Given the description of an element on the screen output the (x, y) to click on. 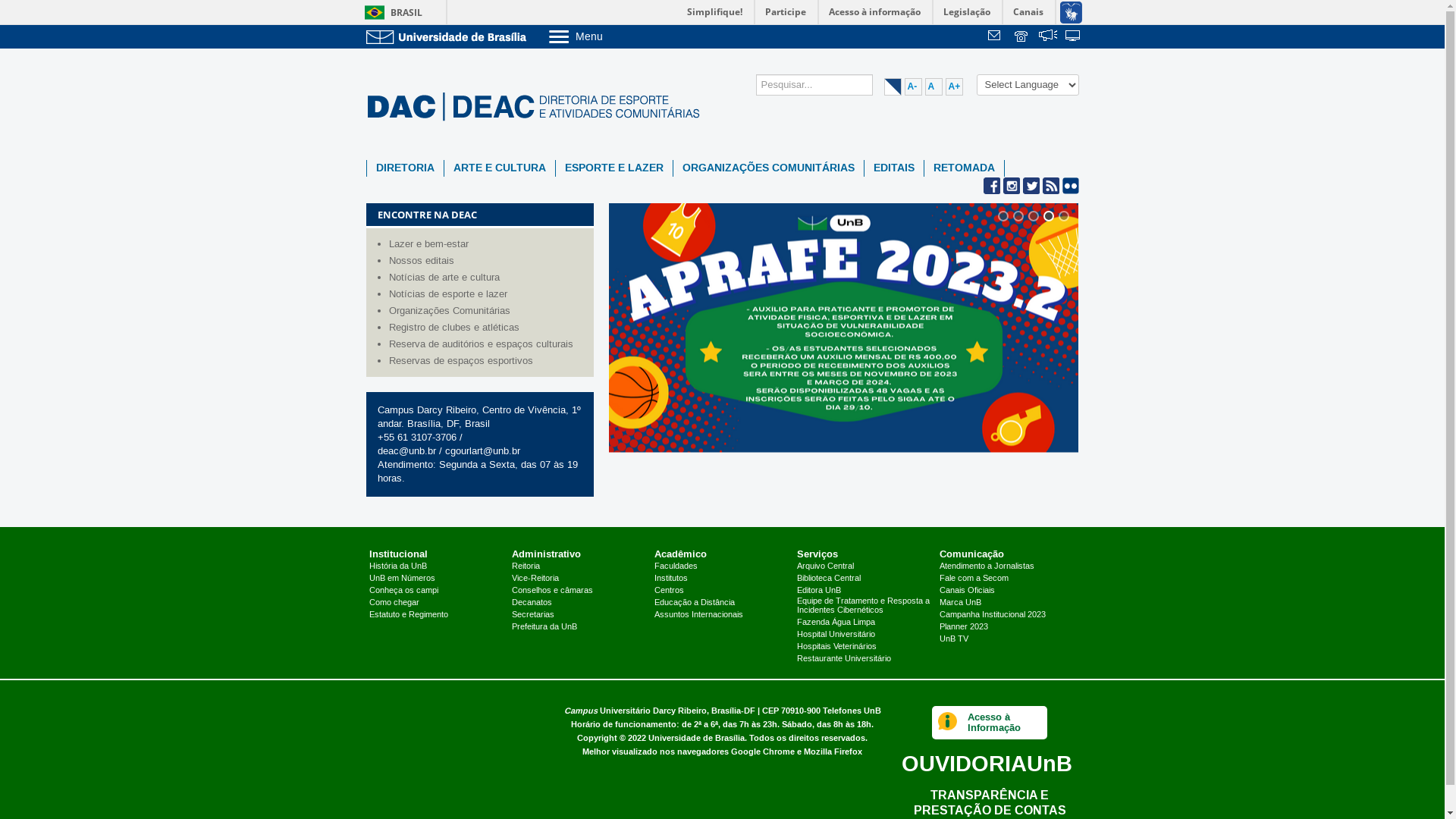
OUVIDORIAUnB Element type: text (985, 763)
Assuntos Internacionais Element type: text (698, 614)
Centros Element type: text (669, 590)
Faculdades Element type: text (675, 566)
Como chegar Element type: text (394, 602)
RETOMADA Element type: text (963, 168)
Lazer e bem-estar Element type: text (486, 243)
Campanha Institucional 2023 Element type: text (992, 614)
Prefeitura da UnB Element type: text (544, 626)
  Element type: text (996, 37)
Estatuto e Regimento Element type: text (408, 614)
Biblioteca Central Element type: text (828, 578)
Editora UnB Element type: text (818, 590)
Arquivo Central Element type: text (825, 566)
  Element type: text (1022, 37)
A Element type: text (933, 86)
BRASIL Element type: text (389, 12)
Nossos editais Element type: text (486, 260)
A+ Element type: text (953, 86)
Vice-Reitoria Element type: text (534, 578)
Decanatos Element type: text (531, 602)
ESPORTE E LAZER Element type: text (613, 168)
Institutos Element type: text (670, 578)
Telefones UnB Element type: text (851, 710)
Atendimento a Jornalistas Element type: text (986, 566)
  Element type: text (1073, 37)
deac@unb.br Element type: text (406, 451)
Fala.BR Element type: hover (1047, 37)
Ir para o Portal da UnB Element type: hover (448, 36)
UnB TV Element type: text (953, 638)
Secretarias Element type: text (532, 614)
Planner 2023 Element type: text (963, 626)
Webmail Element type: hover (996, 37)
Menu Element type: text (613, 35)
Telefones da UnB Element type: hover (1022, 37)
  Element type: text (1047, 37)
Canais Oficiais Element type: text (966, 590)
DIRETORIA Element type: text (405, 168)
Marca UnB Element type: text (960, 602)
EDITAIS Element type: text (893, 168)
A- Element type: text (912, 86)
Fale com a Secom Element type: text (973, 578)
Sistemas Element type: hover (1073, 37)
Reitoria Element type: text (525, 566)
ARTE E CULTURA Element type: text (499, 168)
